Given the description of an element on the screen output the (x, y) to click on. 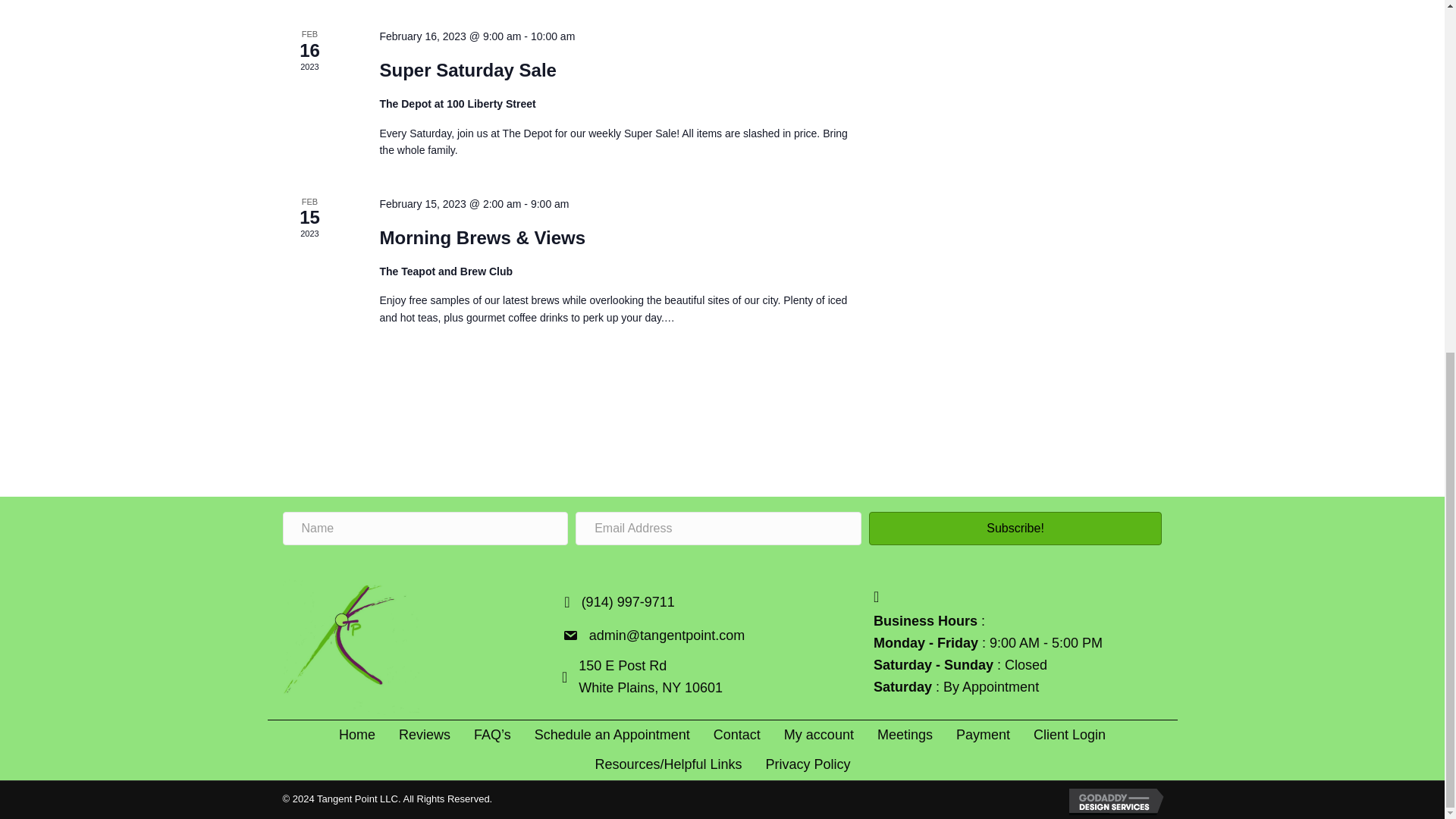
Super Saturday Sale (467, 70)
